Given the description of an element on the screen output the (x, y) to click on. 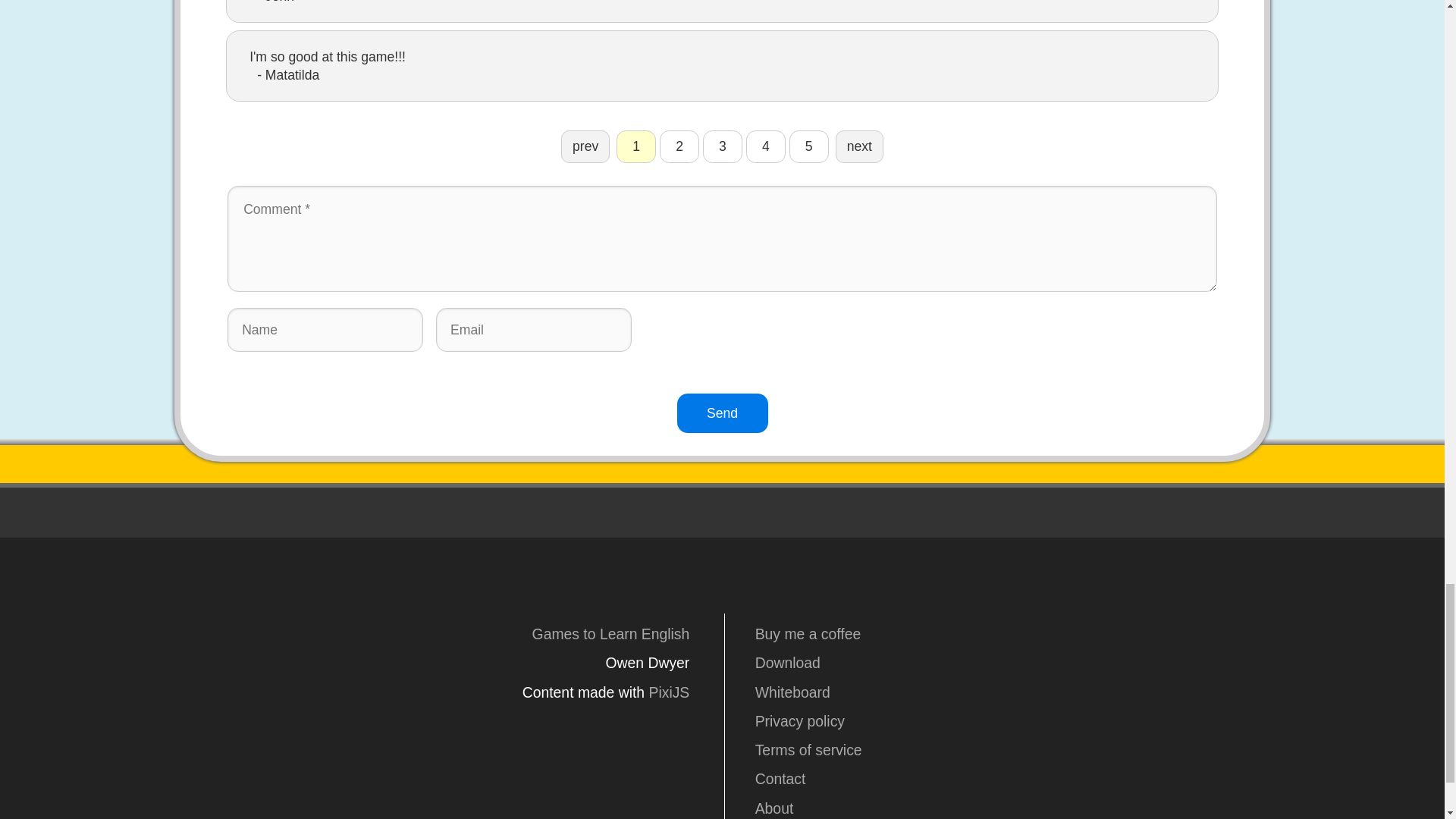
Send (722, 413)
Privacy policy (998, 720)
Terms of service (998, 750)
PixiJS (669, 692)
Download (998, 662)
Buy me a coffee (998, 633)
Contact (998, 778)
About (998, 808)
Games to Learn English (611, 633)
Whiteboard (998, 692)
